Given the description of an element on the screen output the (x, y) to click on. 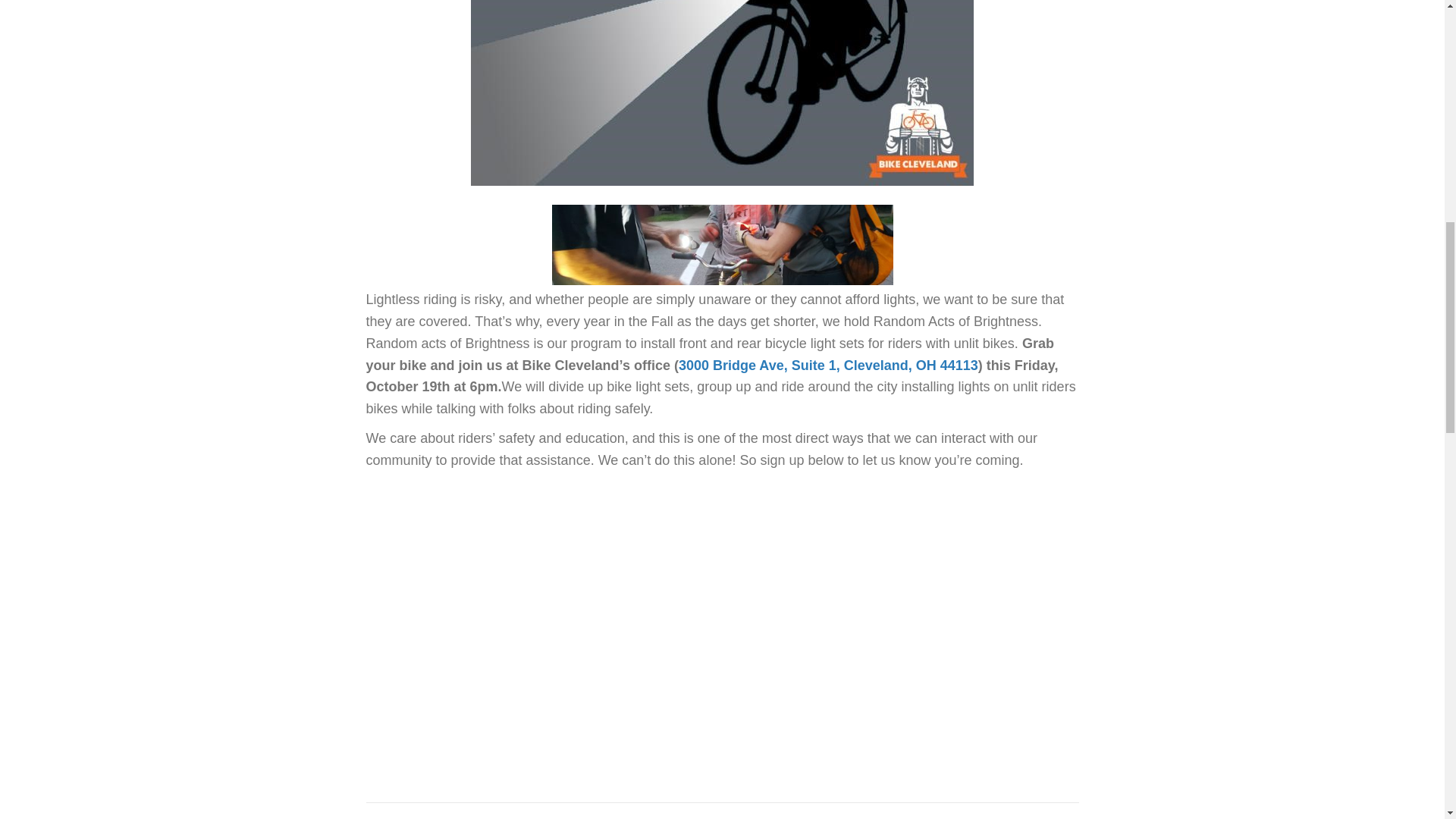
Random Acts Logo (722, 92)
